Given the description of an element on the screen output the (x, y) to click on. 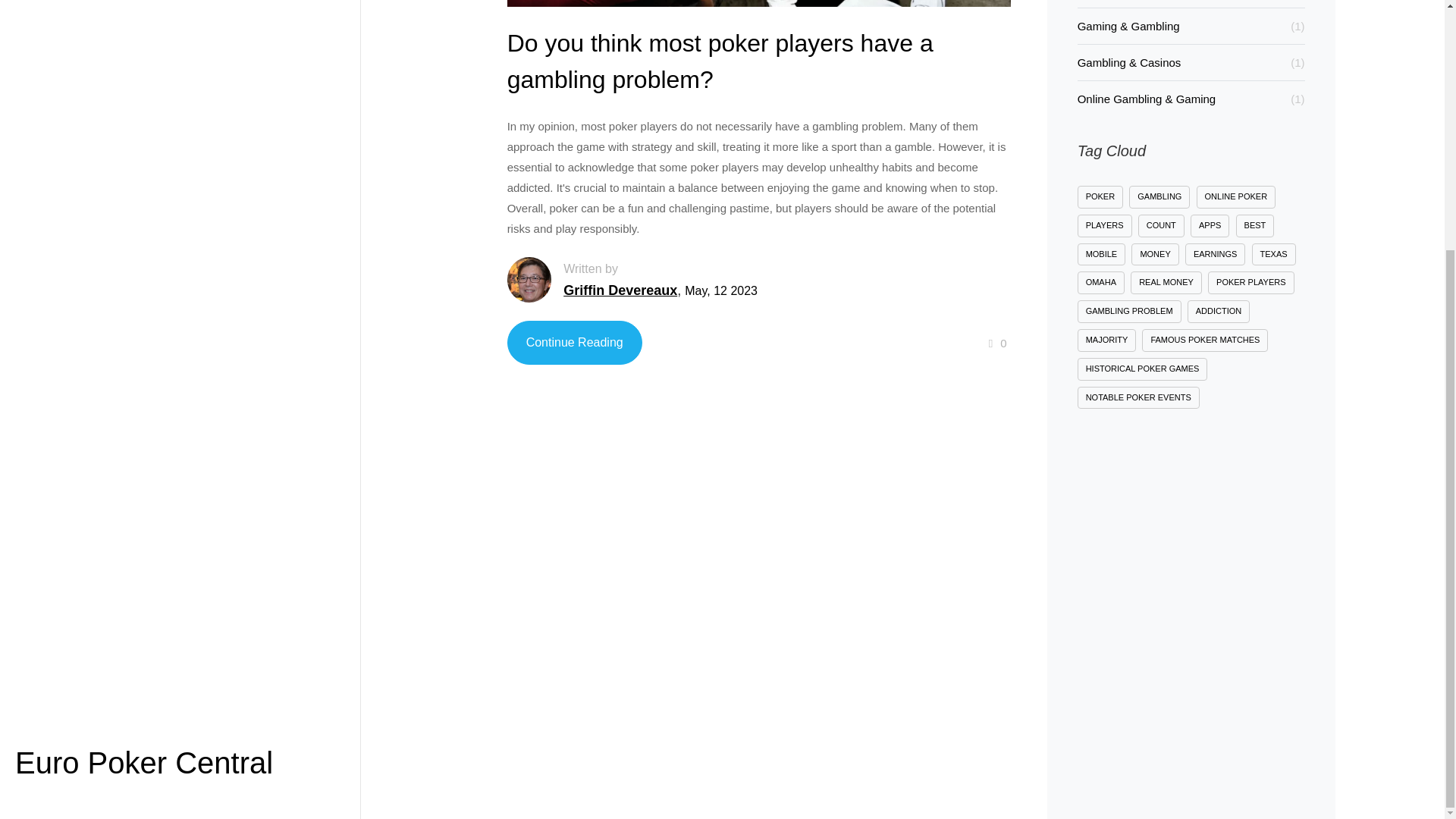
FAMOUS POKER MATCHES (1204, 340)
MOBILE (1101, 254)
NOTABLE POKER EVENTS (1138, 397)
APPS (1209, 225)
MONEY (1154, 254)
POKER PLAYERS (1251, 282)
TEXAS (1273, 254)
Griffin Devereaux (620, 296)
HISTORICAL POKER GAMES (1142, 368)
OMAHA (1100, 282)
MAJORITY (1107, 340)
ADDICTION (1219, 311)
ONLINE POKER (1236, 196)
EARNINGS (1214, 254)
REAL MONEY (1166, 282)
